Given the description of an element on the screen output the (x, y) to click on. 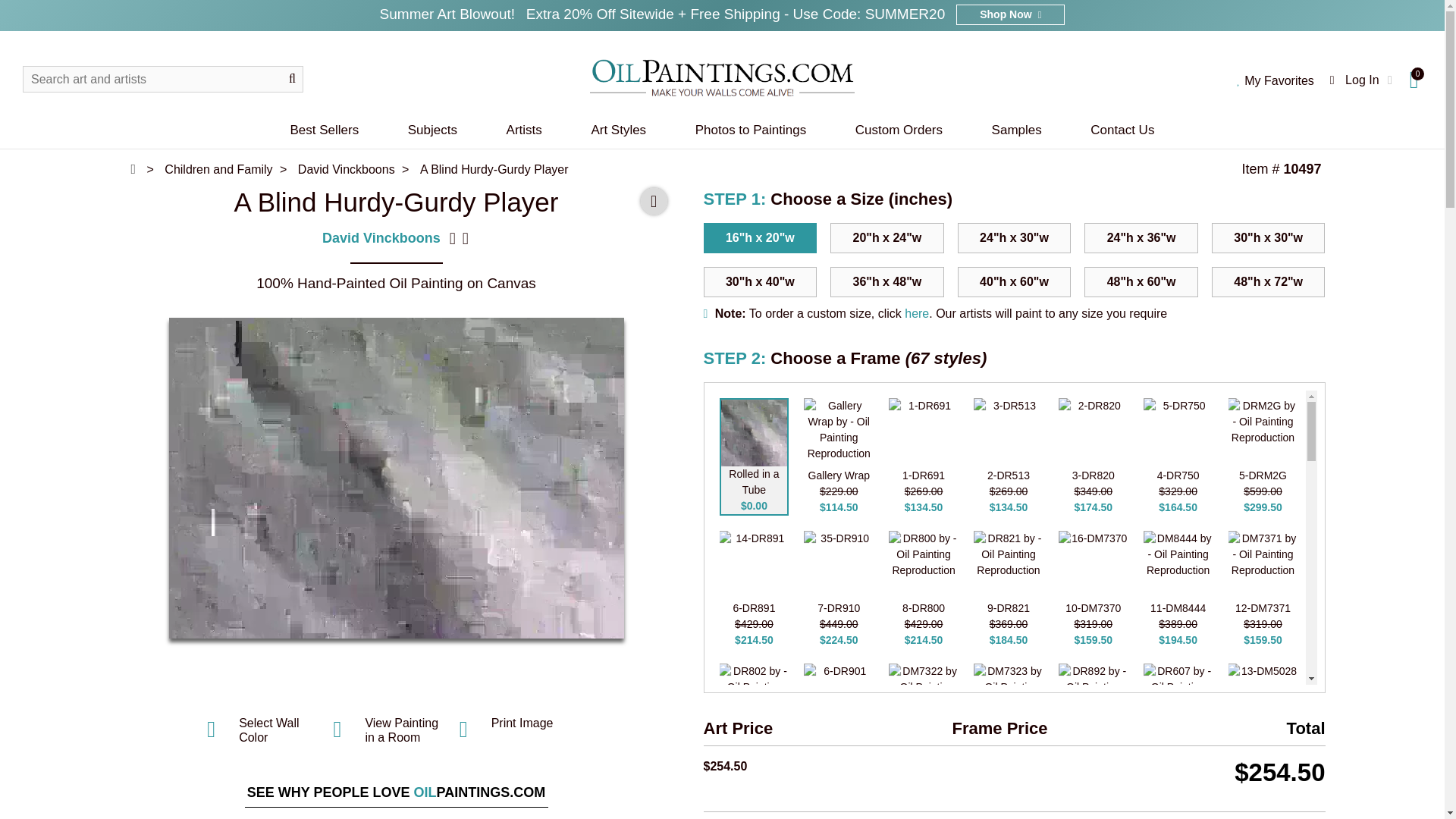
Art Styles (618, 129)
Children and Family (216, 169)
DR802 painting by (754, 698)
Subjects (432, 129)
here (916, 313)
Log In (1362, 79)
Custom Orders (897, 129)
Samples (1016, 129)
1-DR691 (923, 432)
5-DR750 (1177, 432)
Gallery Wrap painting by (838, 432)
My Favorites (1275, 81)
Select Wall Color (269, 729)
Photos to Paintings (751, 129)
